Given the description of an element on the screen output the (x, y) to click on. 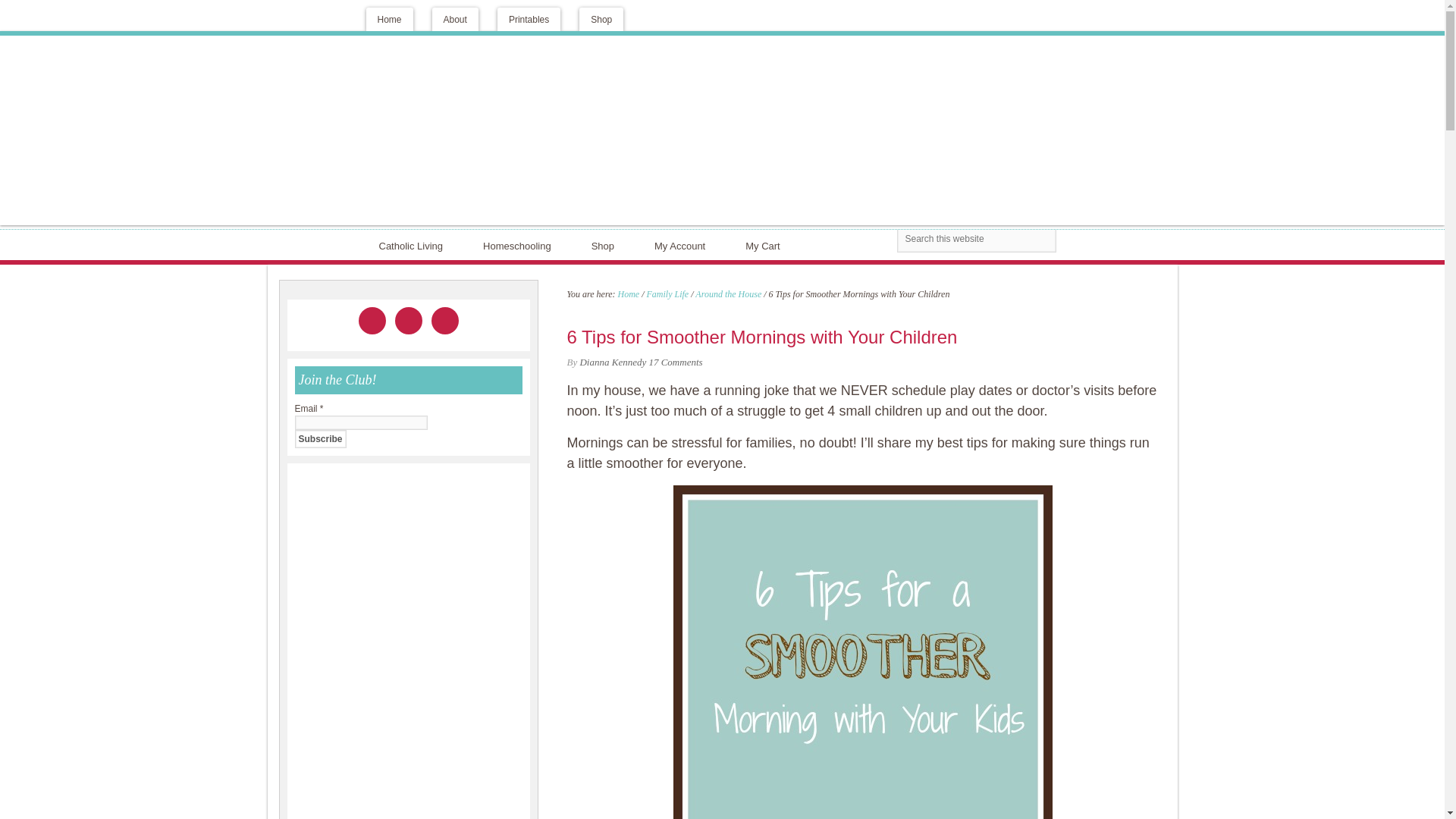
My Account (683, 245)
17 Comments (674, 361)
Home (628, 293)
Printables (528, 19)
Catholic Living (414, 245)
Home (388, 19)
Homeschooling (520, 245)
My Cart (765, 245)
Family Life (667, 293)
Dianna Kennedy (612, 361)
